Given the description of an element on the screen output the (x, y) to click on. 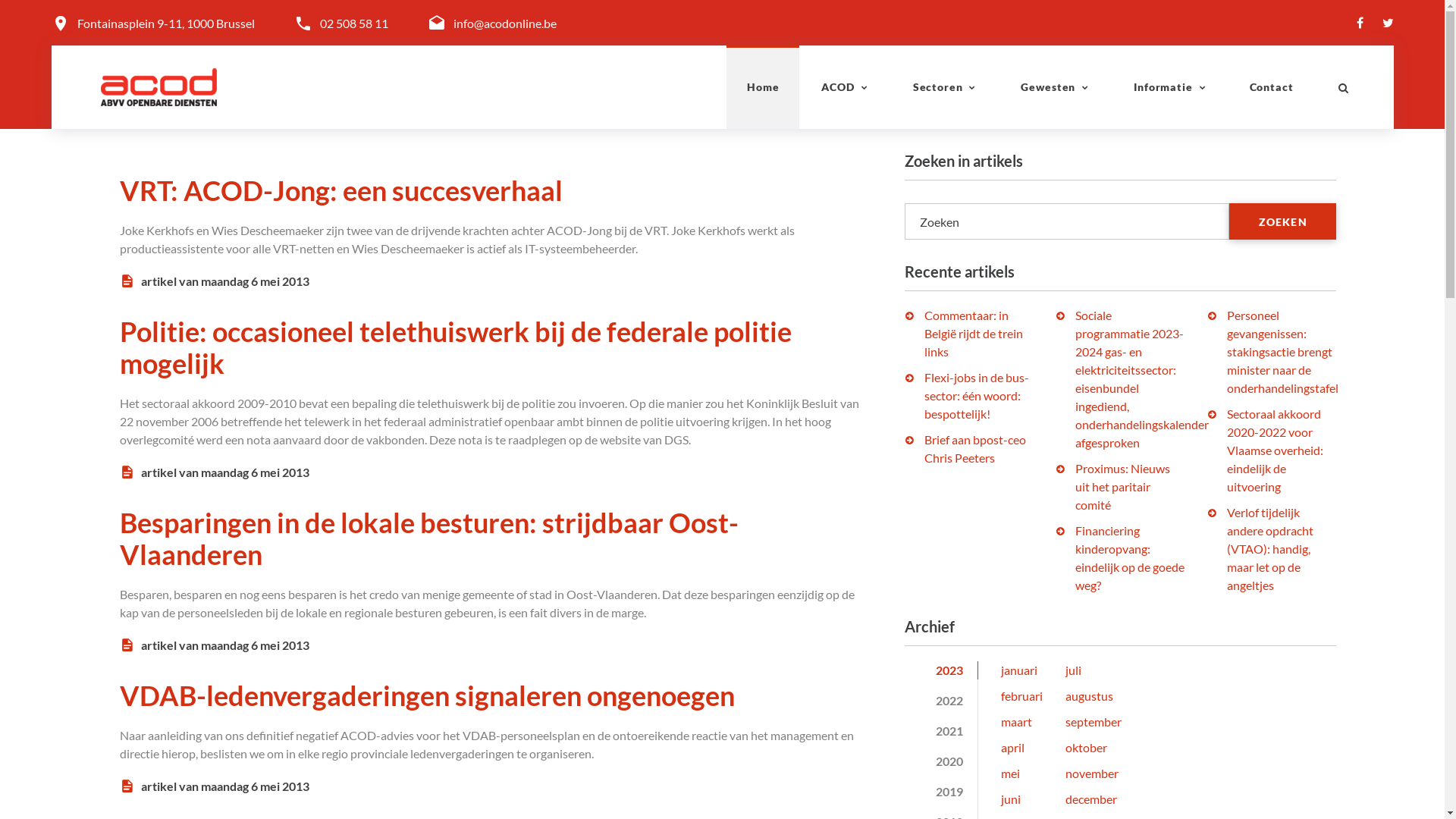
Informatie Element type: text (1169, 86)
Financiering kinderopvang: eindelijk op de goede weg? Element type: text (1129, 557)
juni Element type: text (1010, 798)
juli Element type: text (1073, 669)
maart Element type: text (1016, 721)
ACOD Element type: text (844, 86)
februari Element type: text (1021, 695)
VDAB-ledenvergaderingen signaleren ongenoegen Element type: text (426, 695)
januari Element type: text (1019, 669)
Gewesten Element type: text (1054, 86)
september Element type: text (1093, 721)
Contact Element type: text (1271, 86)
augustus Element type: text (1089, 695)
ZOEKEN Element type: text (1282, 221)
Fontainasplein 9-11, 1000 Brussel Element type: text (165, 23)
info@acodonline.be Element type: text (504, 22)
Home Element type: text (762, 86)
november Element type: text (1091, 772)
mei Element type: text (1010, 772)
Brief aan bpost-ceo Chris Peeters Element type: text (974, 448)
december Element type: text (1091, 798)
Sectoren Element type: text (945, 86)
april Element type: text (1012, 747)
02 508 58 11 Element type: text (354, 22)
VRT: ACOD-Jong: een succesverhaal Element type: text (340, 190)
oktober Element type: text (1086, 747)
